Given the description of an element on the screen output the (x, y) to click on. 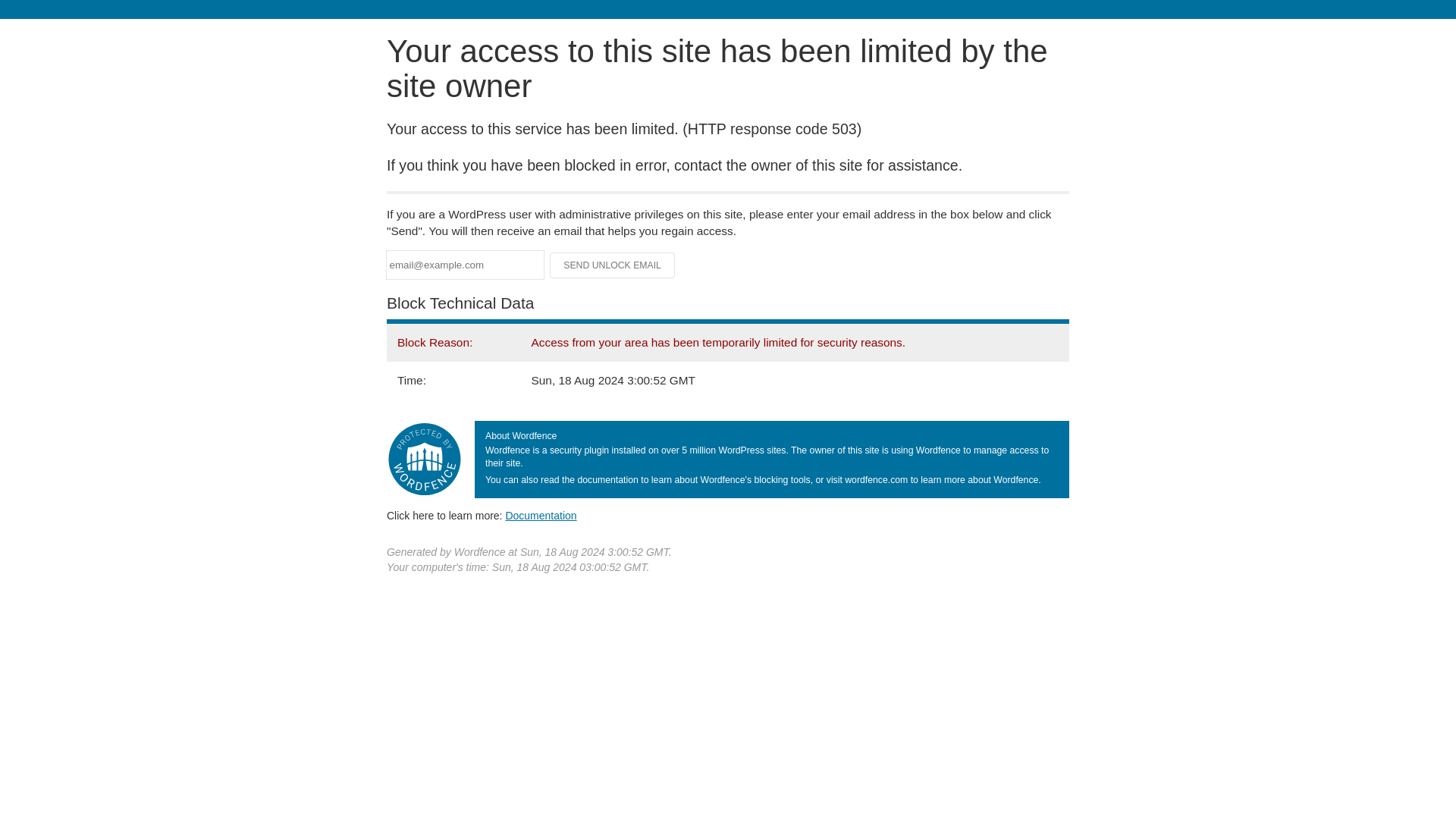
Documentation (540, 515)
Send Unlock Email (612, 265)
Send Unlock Email (612, 265)
